Given the description of an element on the screen output the (x, y) to click on. 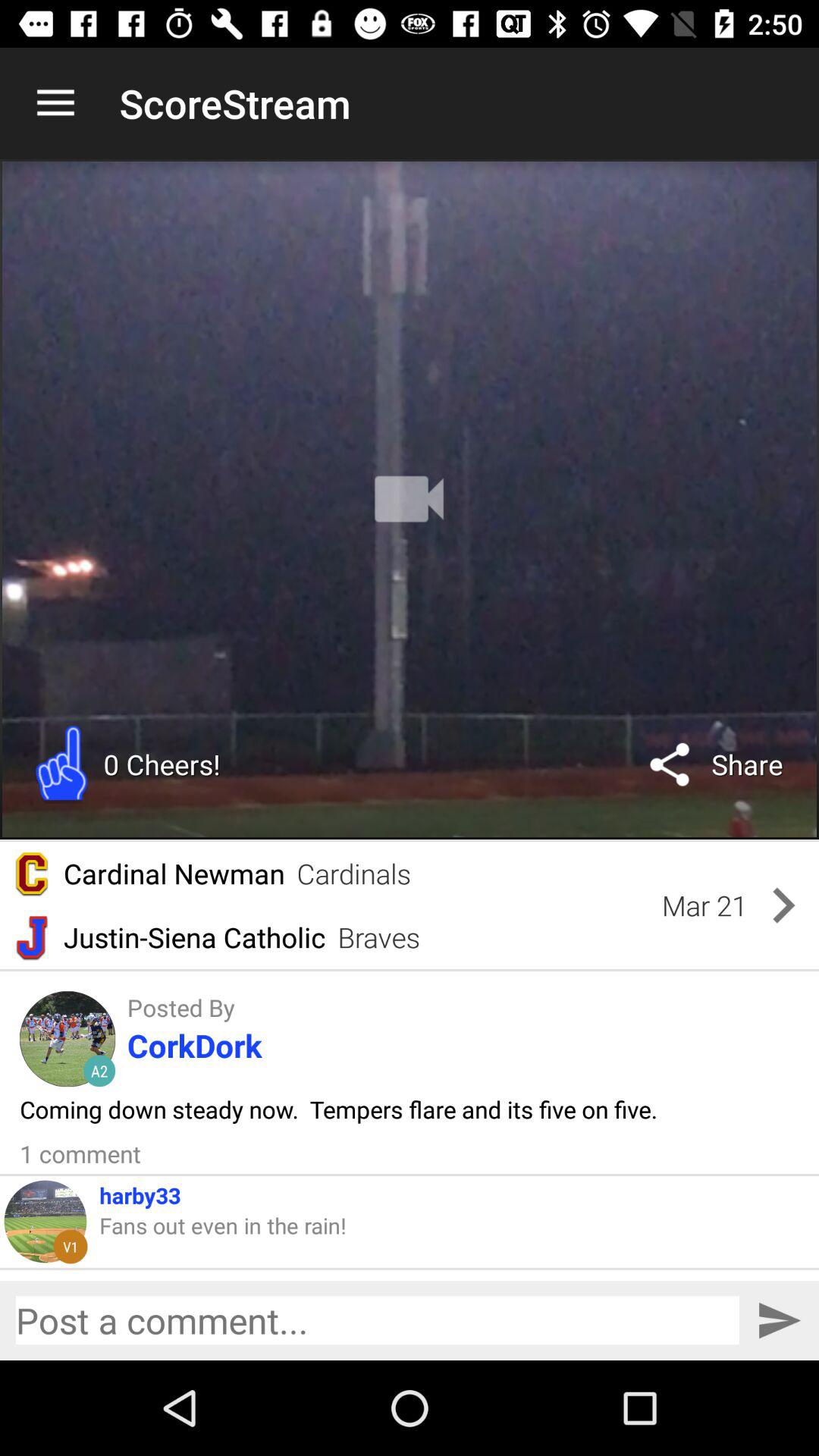
jump until the posted by icon (180, 1007)
